Given the description of an element on the screen output the (x, y) to click on. 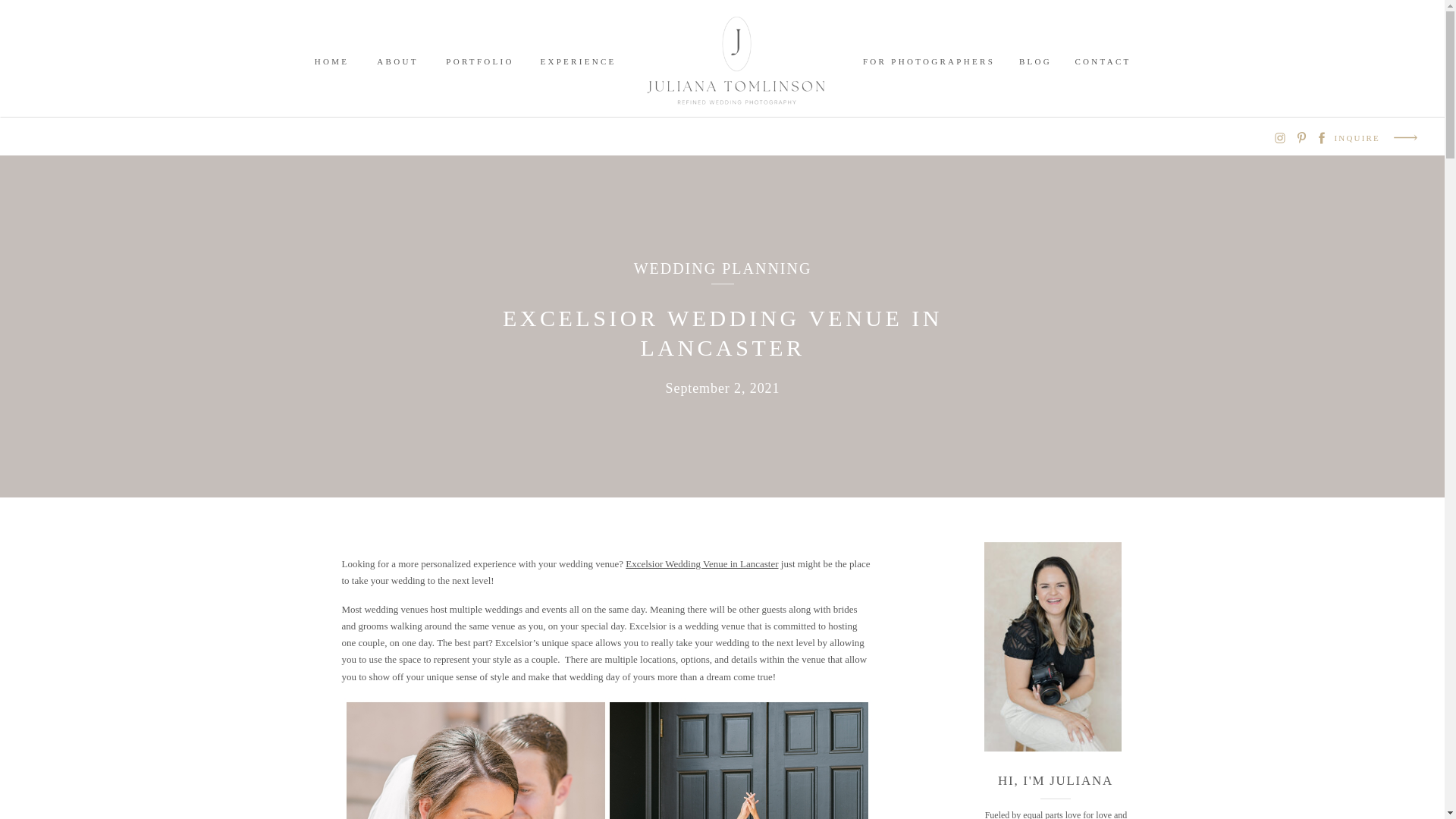
ABOUT (398, 60)
PORTFOLIO (480, 60)
EXPERIENCE (577, 60)
arrow (1405, 137)
FOR PHOTOGRAPHERS (928, 60)
HOME (331, 60)
INQUIRE  (1358, 137)
BLOG (1035, 60)
WEDDING PLANNING (722, 268)
Excelsior Wedding Venue in Lancaster (701, 563)
